Given the description of an element on the screen output the (x, y) to click on. 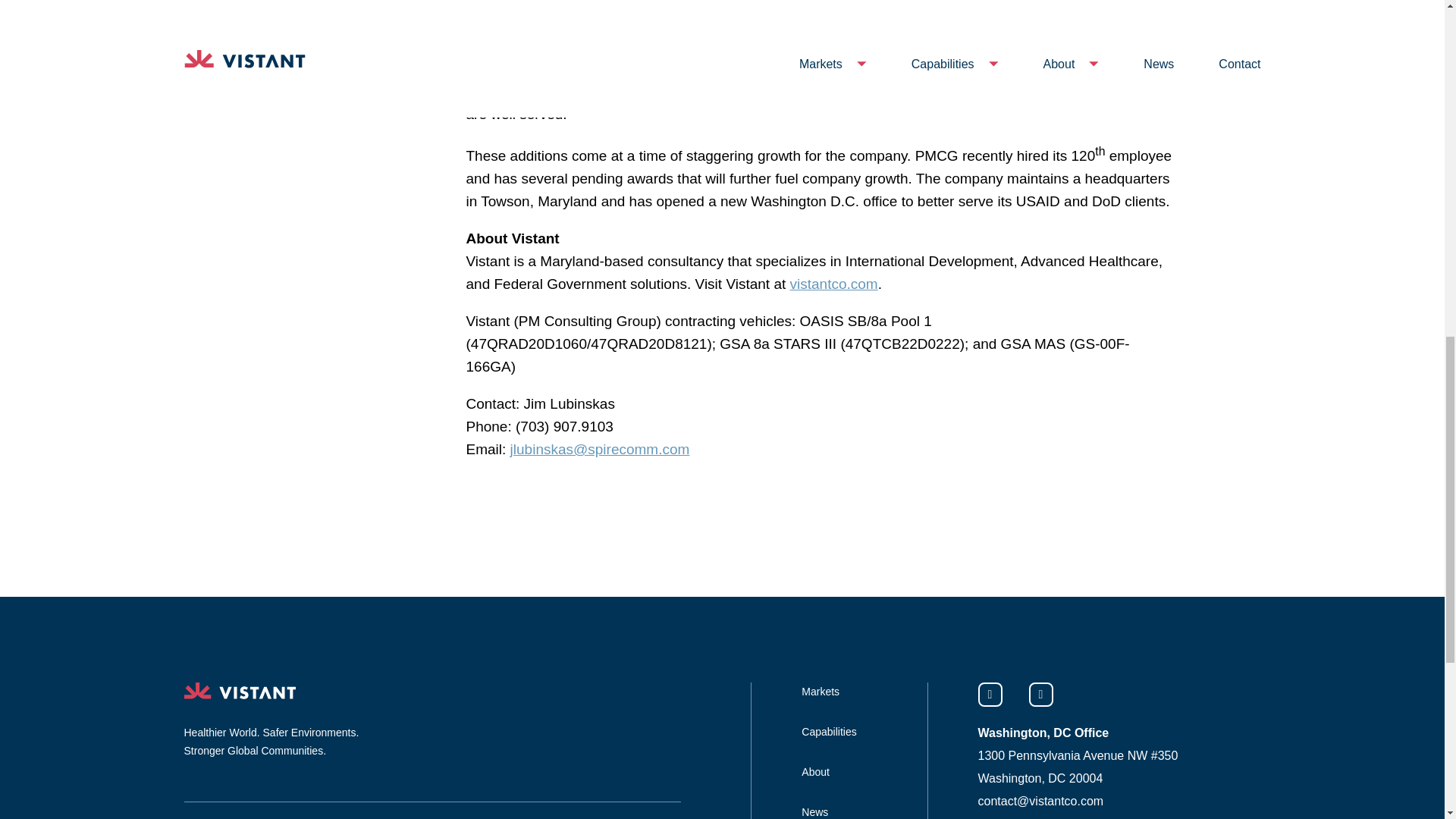
Vistant (239, 690)
Vistant on Twitter (1039, 694)
vistantco.com (833, 283)
Markets (821, 691)
Vistant on Linked In (990, 694)
Capabilities (829, 731)
News (815, 811)
About (815, 771)
